Given the description of an element on the screen output the (x, y) to click on. 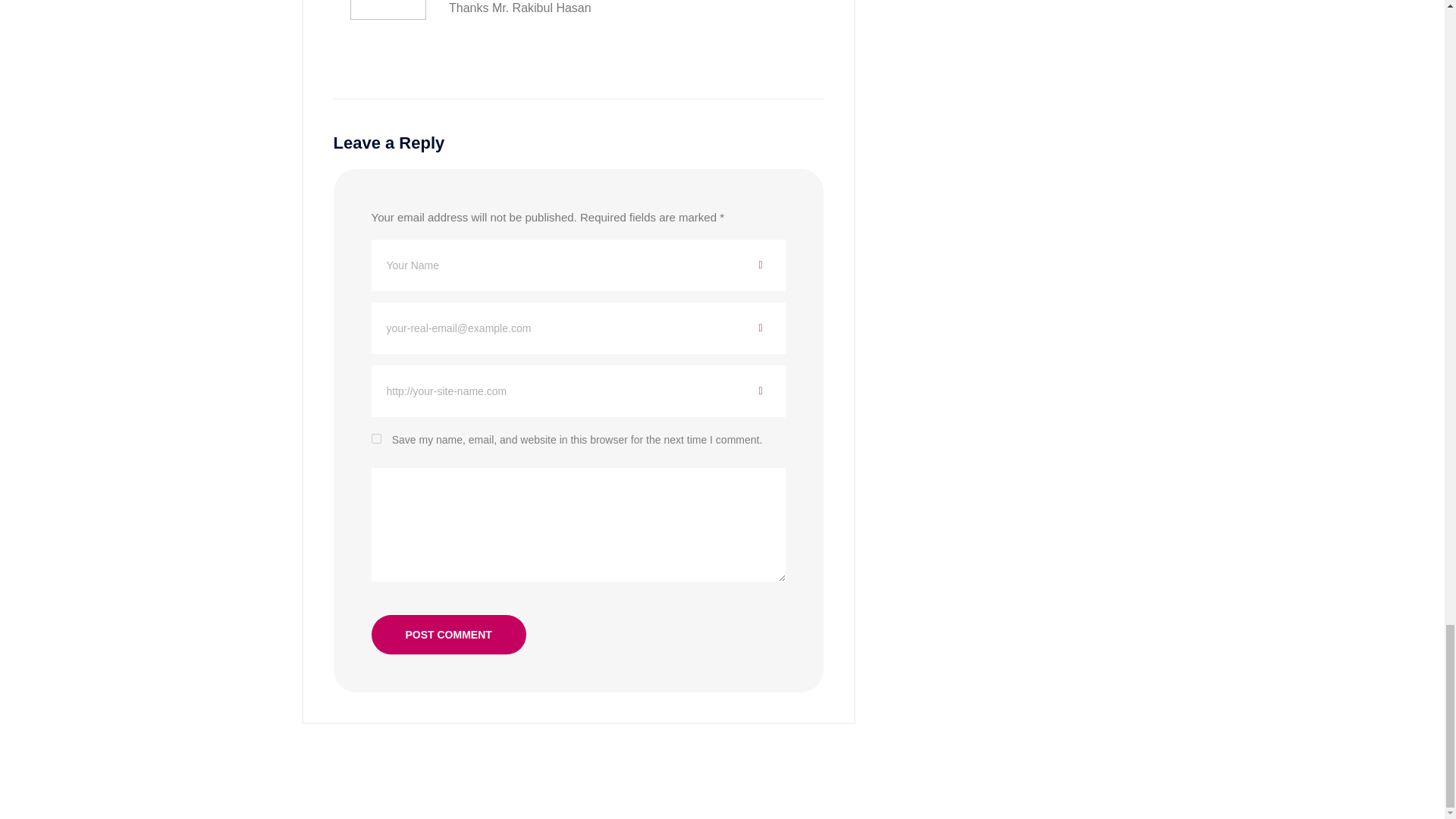
Post Comment (448, 634)
yes (376, 438)
Post Comment (448, 634)
